Given the description of an element on the screen output the (x, y) to click on. 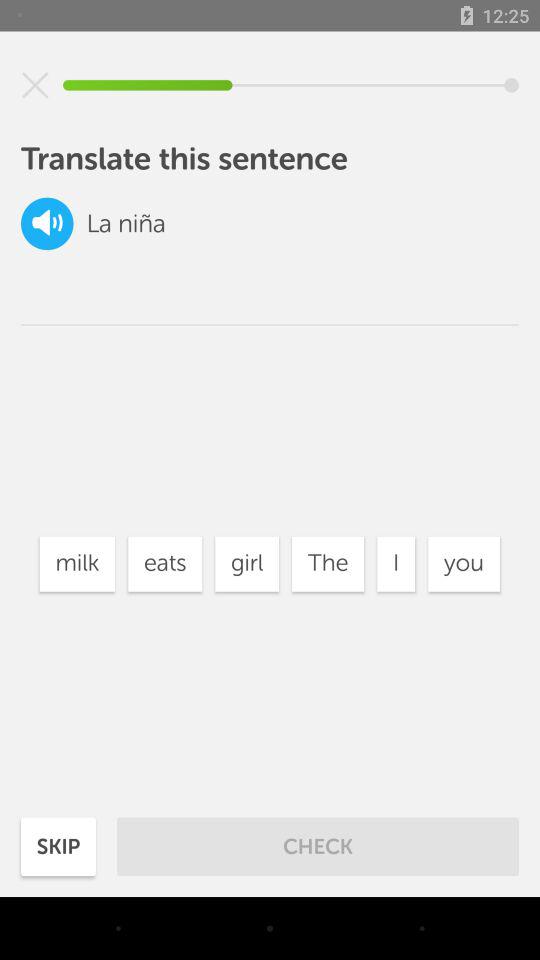
swipe to the eats item (165, 563)
